Given the description of an element on the screen output the (x, y) to click on. 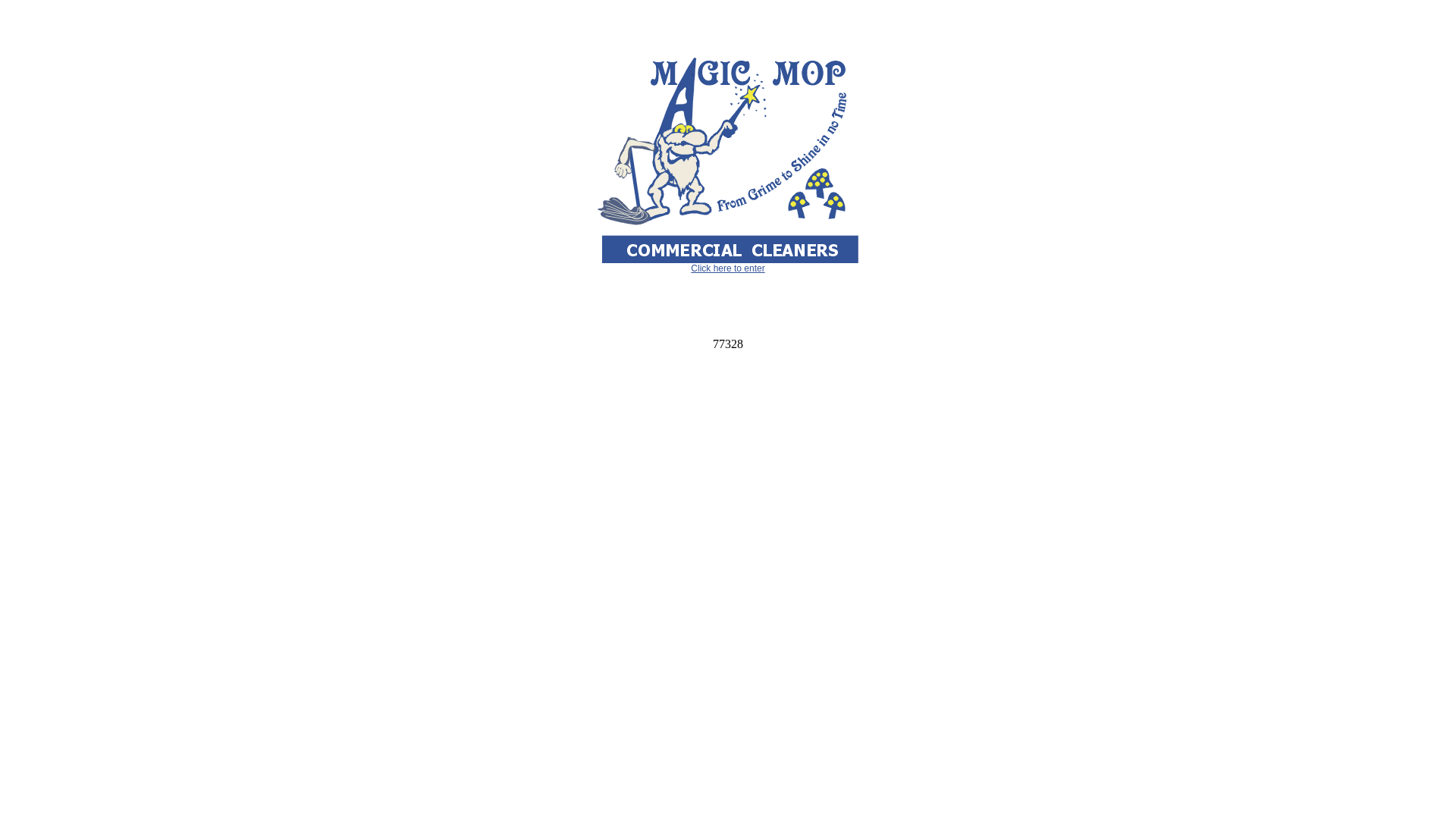
Click here to enter Element type: text (727, 268)
